Given the description of an element on the screen output the (x, y) to click on. 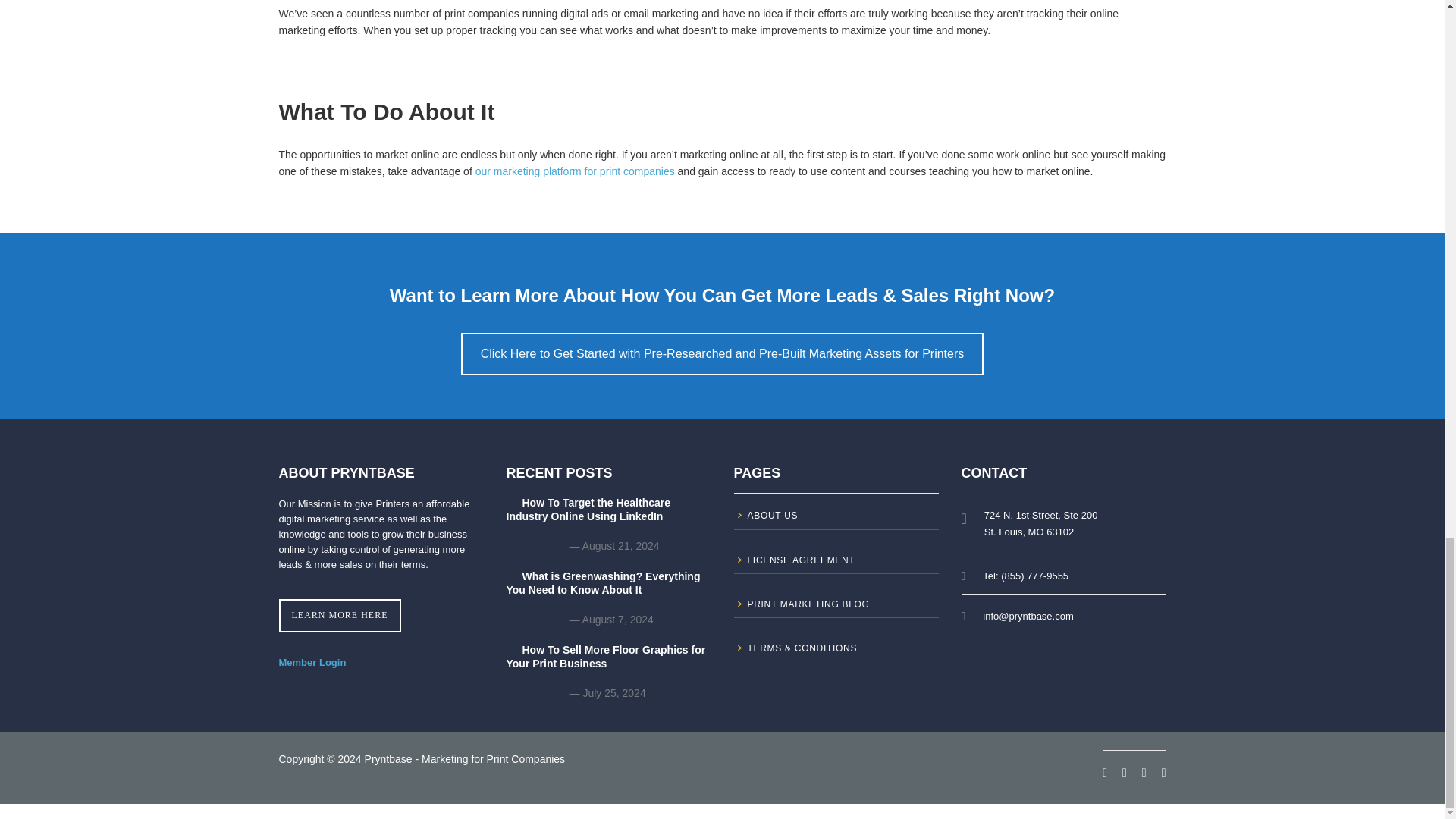
LICENSE AGREEMENT (836, 563)
How To Sell More Floor Graphics for Your Print Business (608, 663)
PRINT MARKETING BLOG (836, 607)
ABOUT US (836, 517)
Member Login (312, 662)
How To Target the Healthcare Industry Online Using LinkedIn (608, 516)
What is Greenwashing? Everything You Need to Know About It (608, 589)
our marketing platform for print companies (575, 171)
Marketing for Print Companies (493, 758)
